Given the description of an element on the screen output the (x, y) to click on. 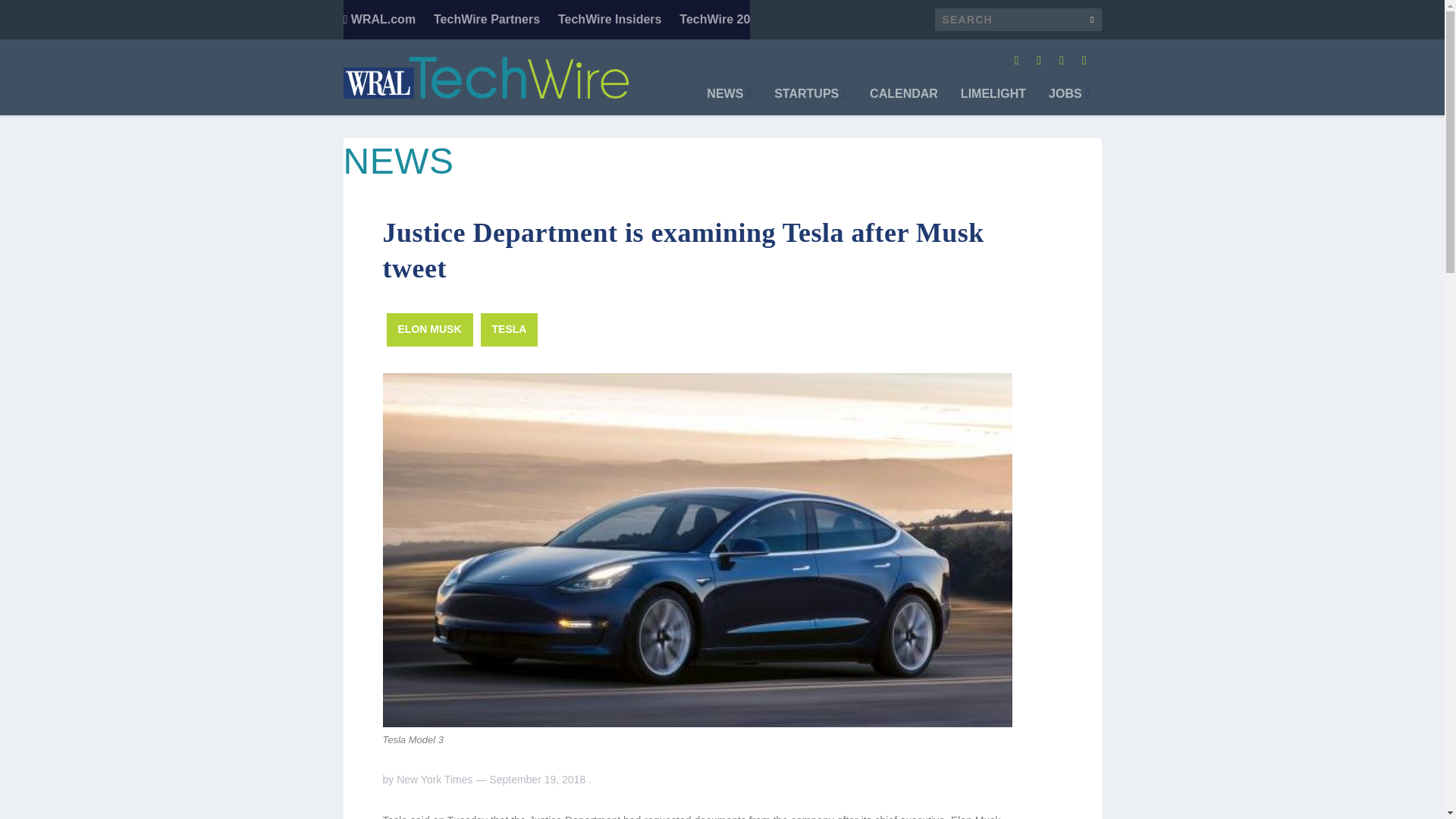
CALENDAR (903, 101)
NEWS (728, 101)
TechWire 20 (714, 19)
WRAL.com (378, 19)
JOBS (1068, 101)
TechWire Partners (486, 19)
LIMELIGHT (993, 101)
TechWire Insiders (609, 19)
STARTUPS (810, 101)
Search for: (1017, 19)
